Given the description of an element on the screen output the (x, y) to click on. 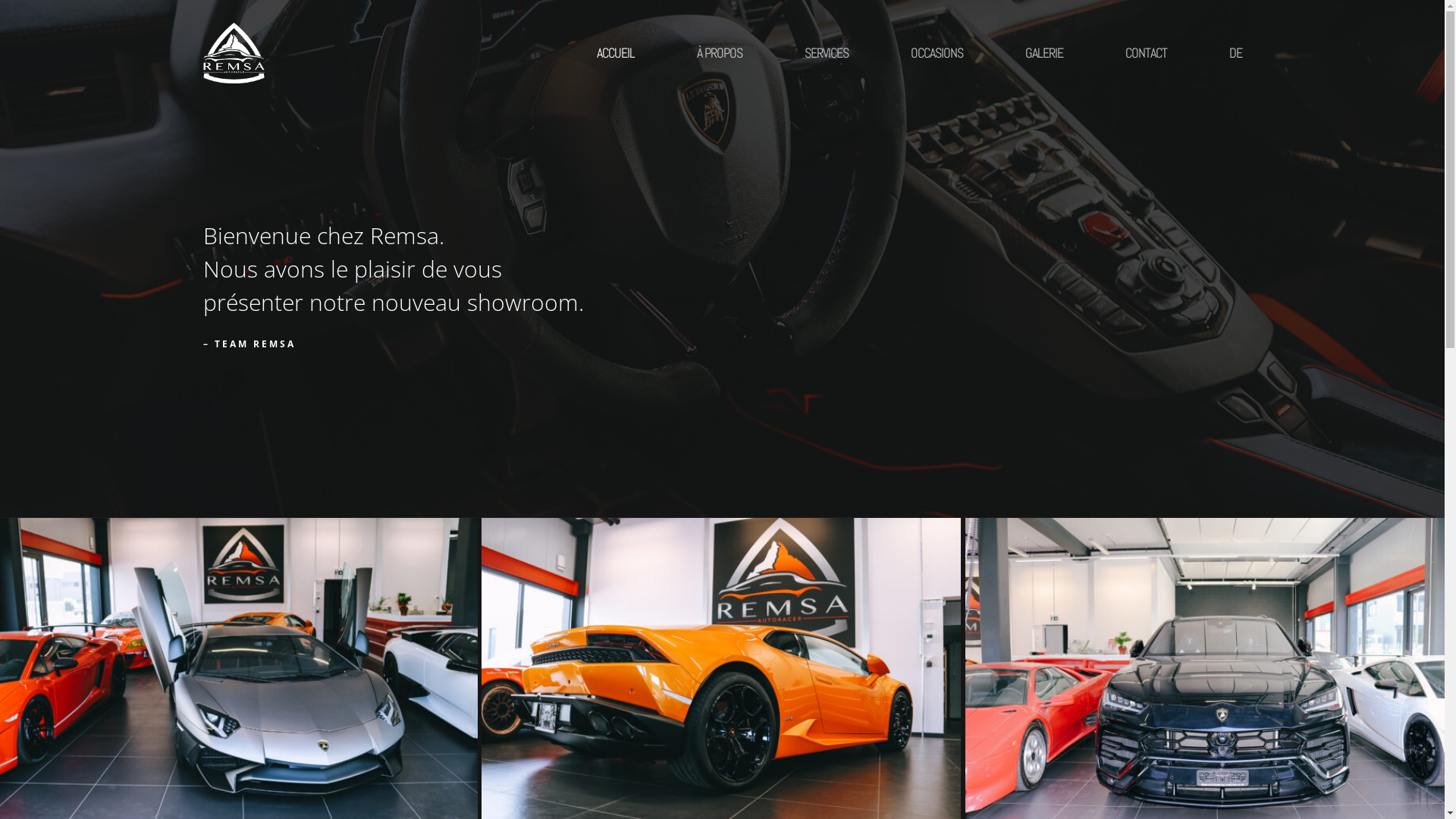
GALERIE Element type: text (1043, 52)
CONTACT Element type: text (1145, 52)
SERVICES Element type: text (826, 52)
DE Element type: text (1220, 52)
ACCUEIL Element type: text (615, 52)
OCCASIONS Element type: text (936, 52)
